Given the description of an element on the screen output the (x, y) to click on. 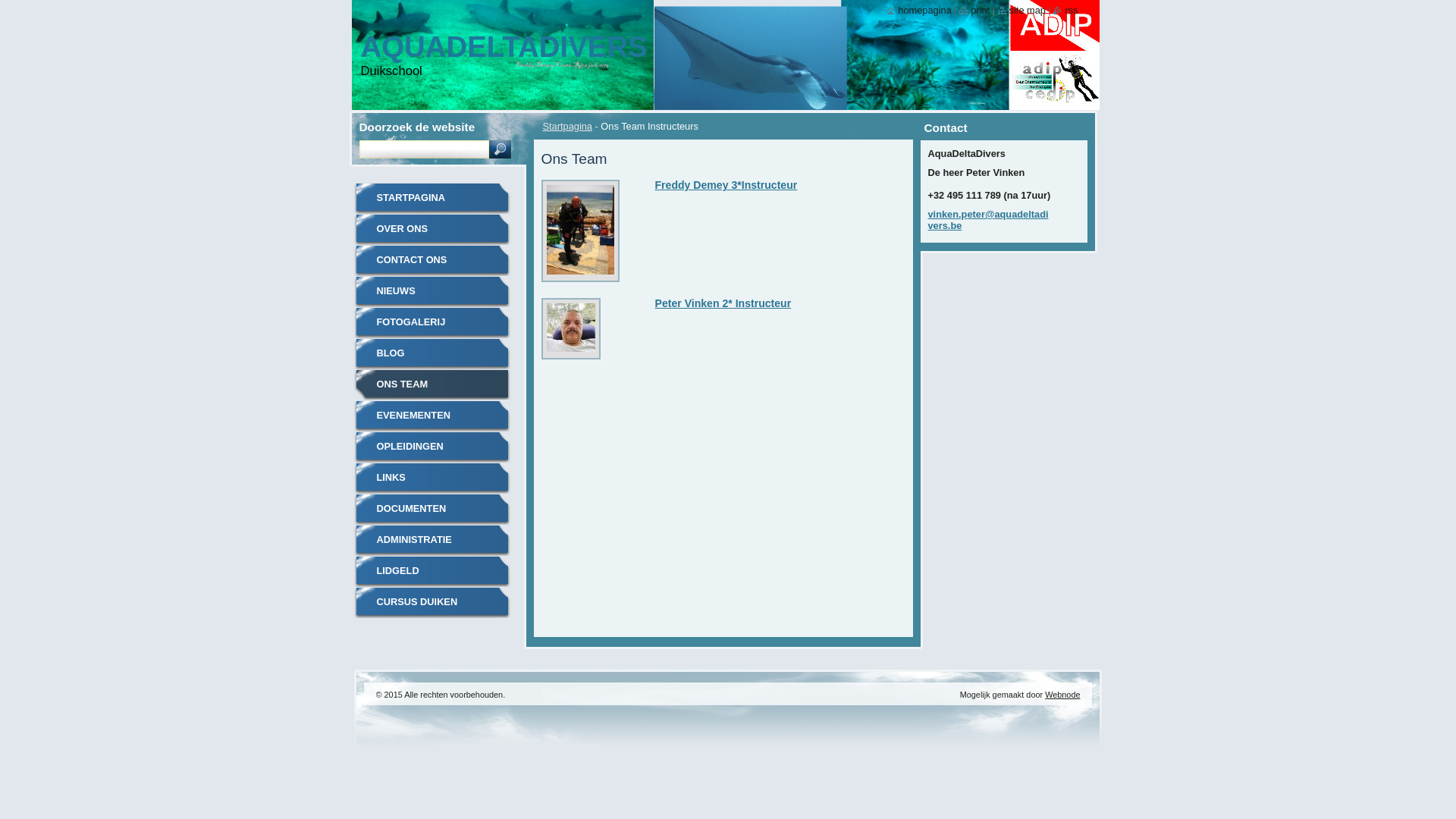
CURSUS DUIKEN Element type: text (431, 602)
OPLEIDINGEN Element type: text (431, 446)
ONS TEAM INSTRUCTEURS Element type: text (431, 384)
AQUADELTADIVERS Element type: text (503, 46)
Startpagina Element type: text (567, 125)
homepagina Element type: text (918, 9)
site map Element type: text (1021, 9)
NIEUWS Element type: text (431, 291)
LINKS Element type: text (431, 477)
Webnode Element type: text (1061, 694)
DOCUMENTEN Element type: text (431, 508)
Peter Vinken 2* Instructeur Element type: text (723, 303)
FOTOGALERIJ Element type: text (431, 322)
EVENEMENTEN KALENDER Element type: text (431, 415)
ADMINISTRATIE Element type: text (431, 539)
BLOG Element type: text (431, 353)
OVER ONS Element type: text (431, 228)
rss Element type: text (1065, 9)
Freddy Demey 3*Instructeur Element type: text (726, 184)
Zie volledig item Element type: hover (570, 351)
LIDGELD Element type: text (431, 570)
Zie volledig item Element type: hover (580, 274)
STARTPAGINA Element type: text (431, 197)
vinken.peter@aquadeltadivers.be Element type: text (988, 219)
CONTACT ONS Element type: text (431, 260)
print Element type: text (974, 9)
